Given the description of an element on the screen output the (x, y) to click on. 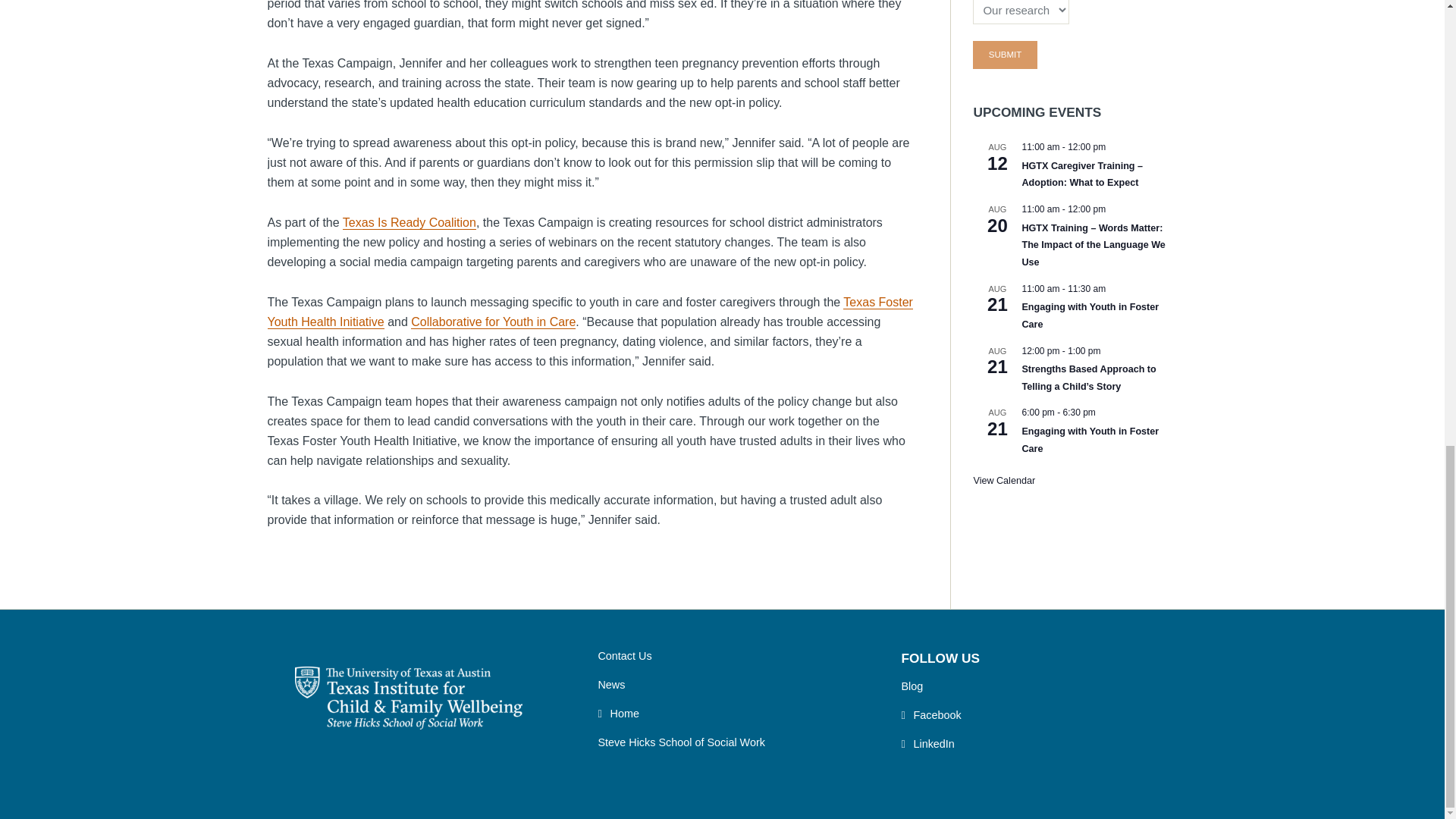
Engaging with Youth in Foster Care (1090, 439)
Submit (1004, 54)
View more events. (1003, 480)
Engaging with Youth in Foster Care (1090, 316)
